Given the description of an element on the screen output the (x, y) to click on. 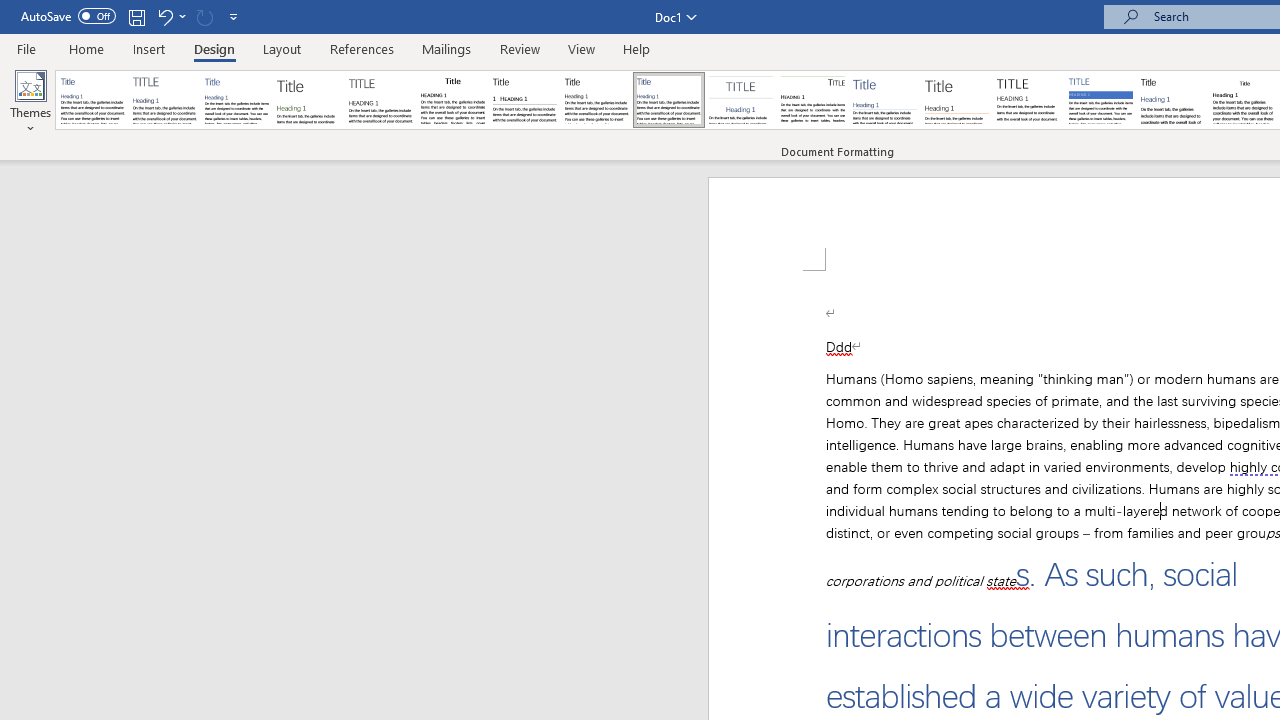
Undo Outline Move Up (170, 15)
Basic (Elegant) (164, 100)
Minimalist (1028, 100)
Shaded (1100, 100)
Lines (Stylish) (957, 100)
Black & White (Capitalized) (381, 100)
Word (1172, 100)
Undo Outline Move Up (164, 15)
Lines (Simple) (884, 100)
Black & White (Numbered) (524, 100)
